Given the description of an element on the screen output the (x, y) to click on. 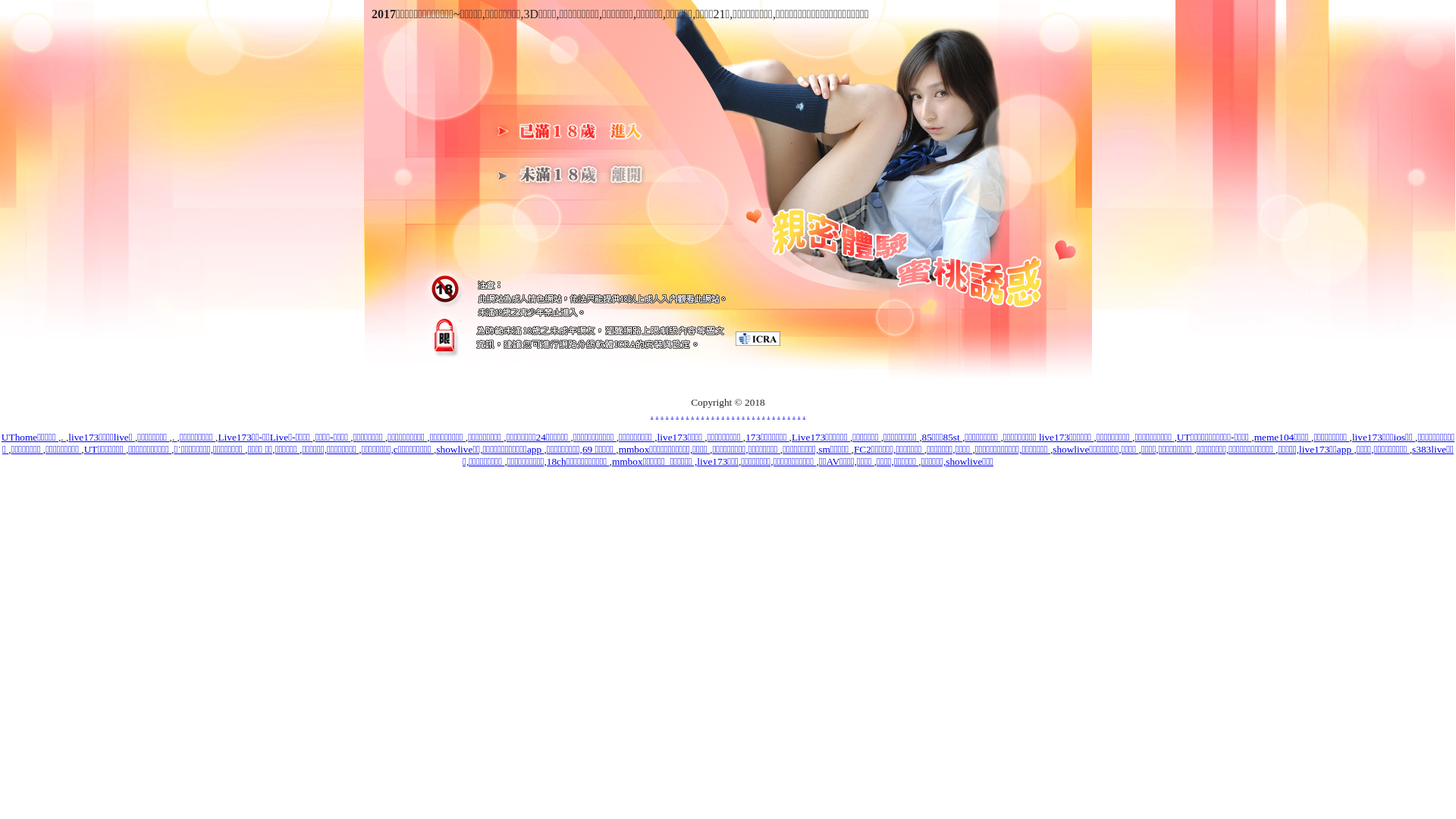
. Element type: text (798, 414)
. Element type: text (672, 414)
. Element type: text (702, 414)
. Element type: text (778, 414)
. Element type: text (651, 414)
. Element type: text (687, 414)
. Element type: text (174, 436)
. Element type: text (727, 414)
. Element type: text (712, 414)
. Element type: text (773, 414)
. Element type: text (732, 414)
. Element type: text (697, 414)
. Element type: text (768, 414)
. Element type: text (707, 414)
. Element type: text (763, 414)
. Element type: text (793, 414)
. Element type: text (738, 414)
. Element type: text (722, 414)
. Element type: text (656, 414)
. Element type: text (804, 414)
. Element type: text (676, 414)
. Element type: text (661, 414)
. Element type: text (753, 414)
. Element type: text (681, 414)
. Element type: text (757, 414)
. Element type: text (783, 414)
. Element type: text (666, 414)
. Element type: text (717, 414)
. Element type: text (62, 436)
. Element type: text (788, 414)
. Element type: text (742, 414)
. Element type: text (692, 414)
. Element type: text (747, 414)
